Given the description of an element on the screen output the (x, y) to click on. 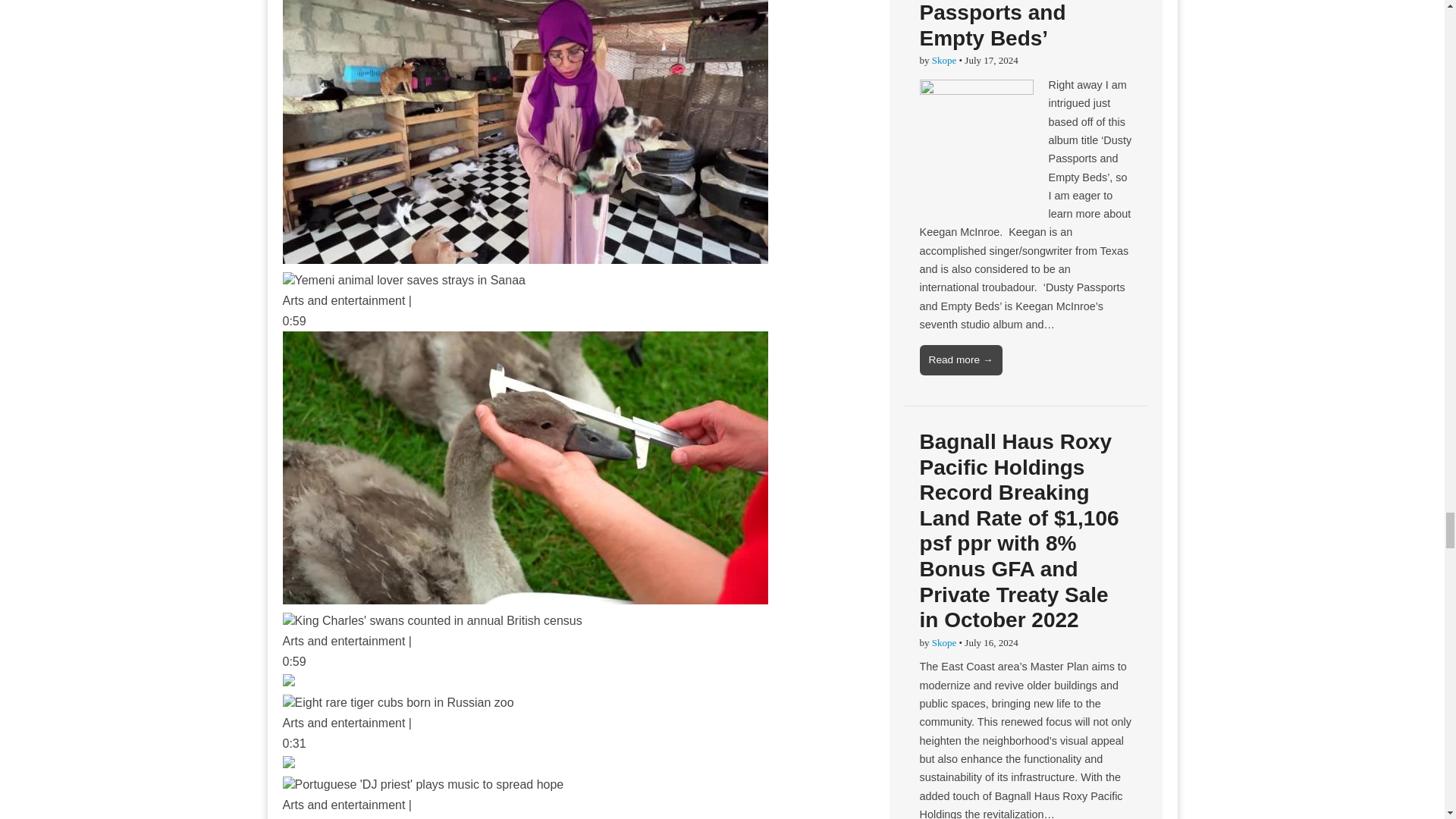
Posts by Skope (943, 60)
Posts by Skope (943, 642)
